Given the description of an element on the screen output the (x, y) to click on. 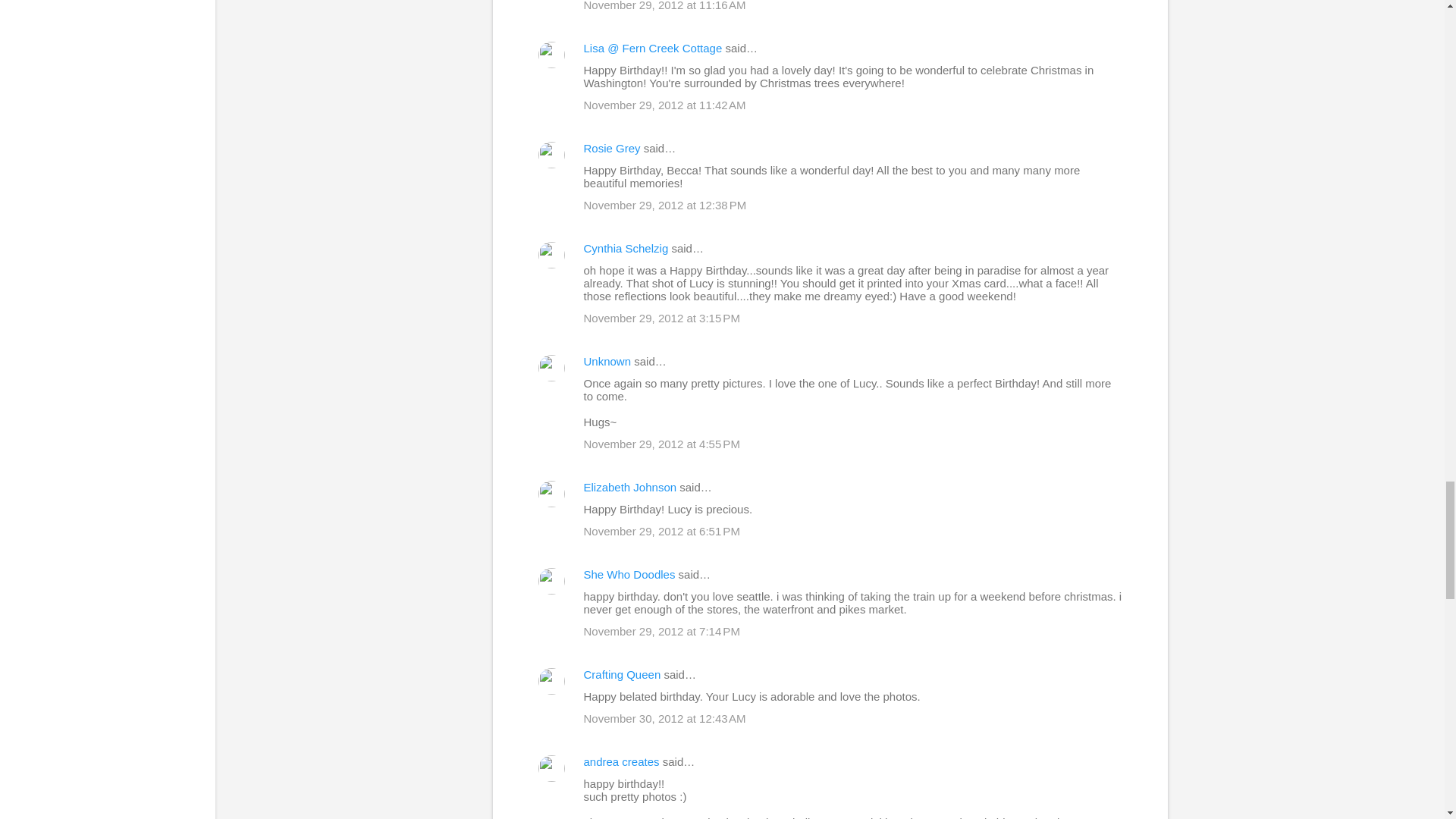
Elizabeth Johnson (630, 486)
She Who Doodles (629, 574)
Cynthia Schelzig (625, 247)
comment permalink (664, 5)
Rosie Grey (611, 147)
Unknown (607, 360)
Crafting Queen (622, 674)
